Given the description of an element on the screen output the (x, y) to click on. 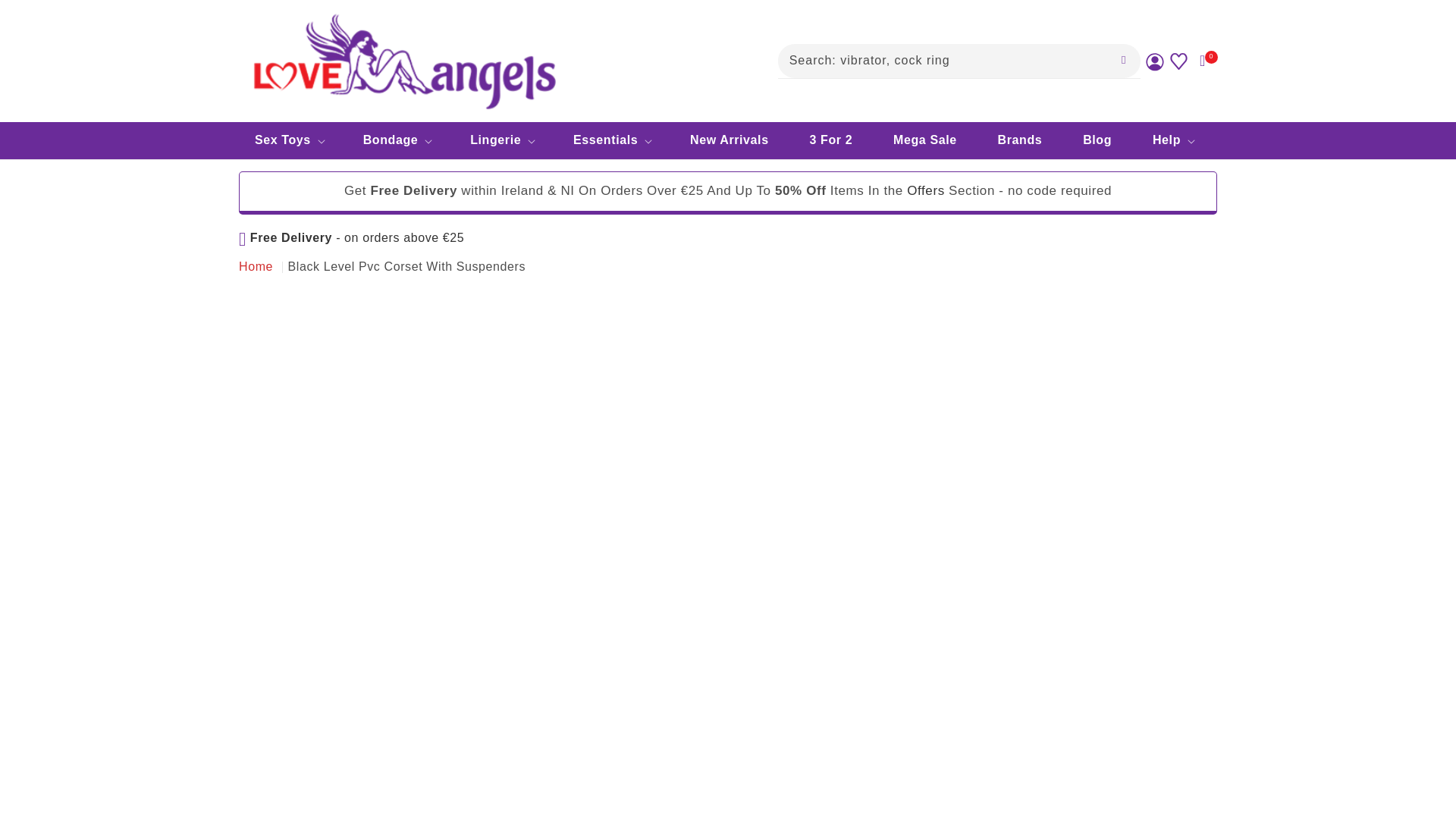
Offers (925, 190)
Skip to content (45, 16)
Free Next Day Delivery (351, 237)
